Given the description of an element on the screen output the (x, y) to click on. 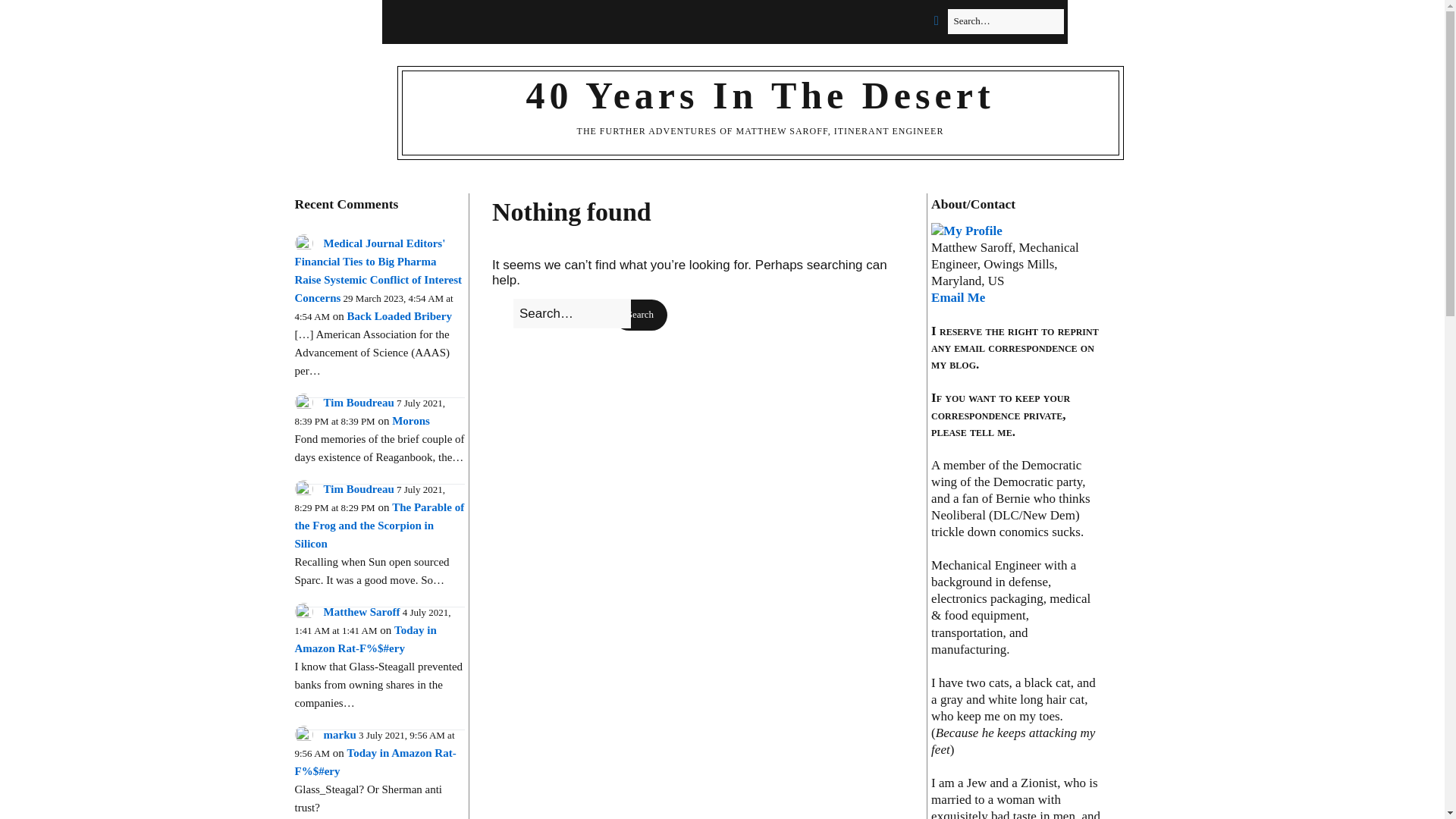
Press Enter to submit your search (571, 313)
Matthew Saroff (360, 612)
Search (639, 314)
Morons (410, 420)
Press Enter to submit your search (1005, 21)
Back Loaded Bribery (399, 316)
The Parable of the Frog and the Scorpion in Silicon (379, 525)
Search (639, 314)
marku (339, 734)
